Given the description of an element on the screen output the (x, y) to click on. 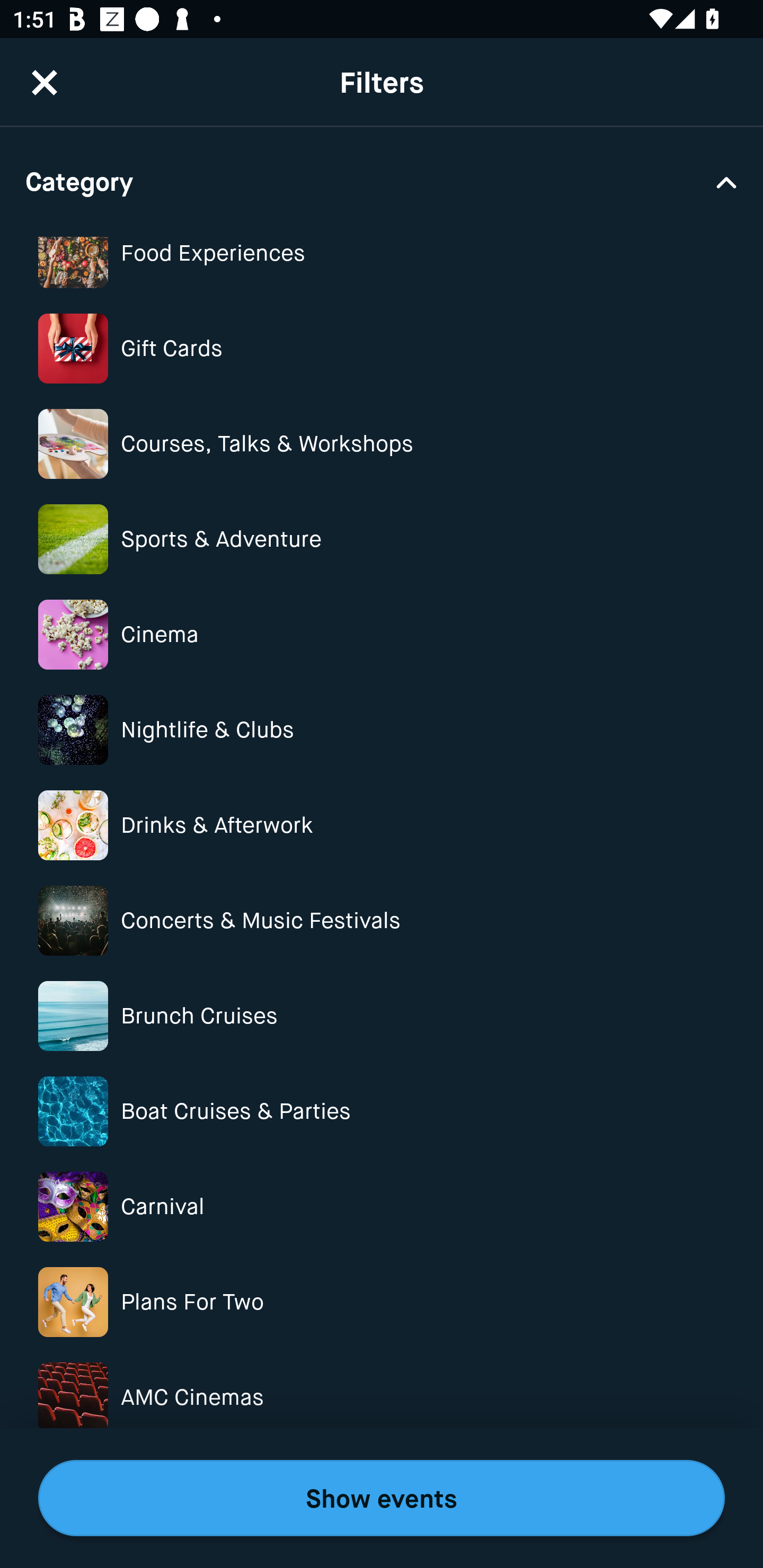
CloseButton (44, 78)
Category Drop Down Arrow (381, 181)
Category Image Food Experiences (381, 263)
Category Image Gift Cards (381, 348)
Category Image Courses, Talks & Workshops (381, 443)
Category Image Sports & Adventure (381, 539)
Category Image Cinema (381, 633)
Category Image Nightlife & Clubs (381, 729)
Category Image Drinks & Afterwork (381, 825)
Category Image Concerts & Music Festivals (381, 920)
Category Image Brunch Cruises (381, 1015)
Category Image Boat Cruises & Parties (381, 1110)
Category Image Carnival (381, 1206)
Category Image Plans For Two (381, 1301)
Category Image AMC Cinemas (381, 1397)
Category Image (381, 1492)
